Given the description of an element on the screen output the (x, y) to click on. 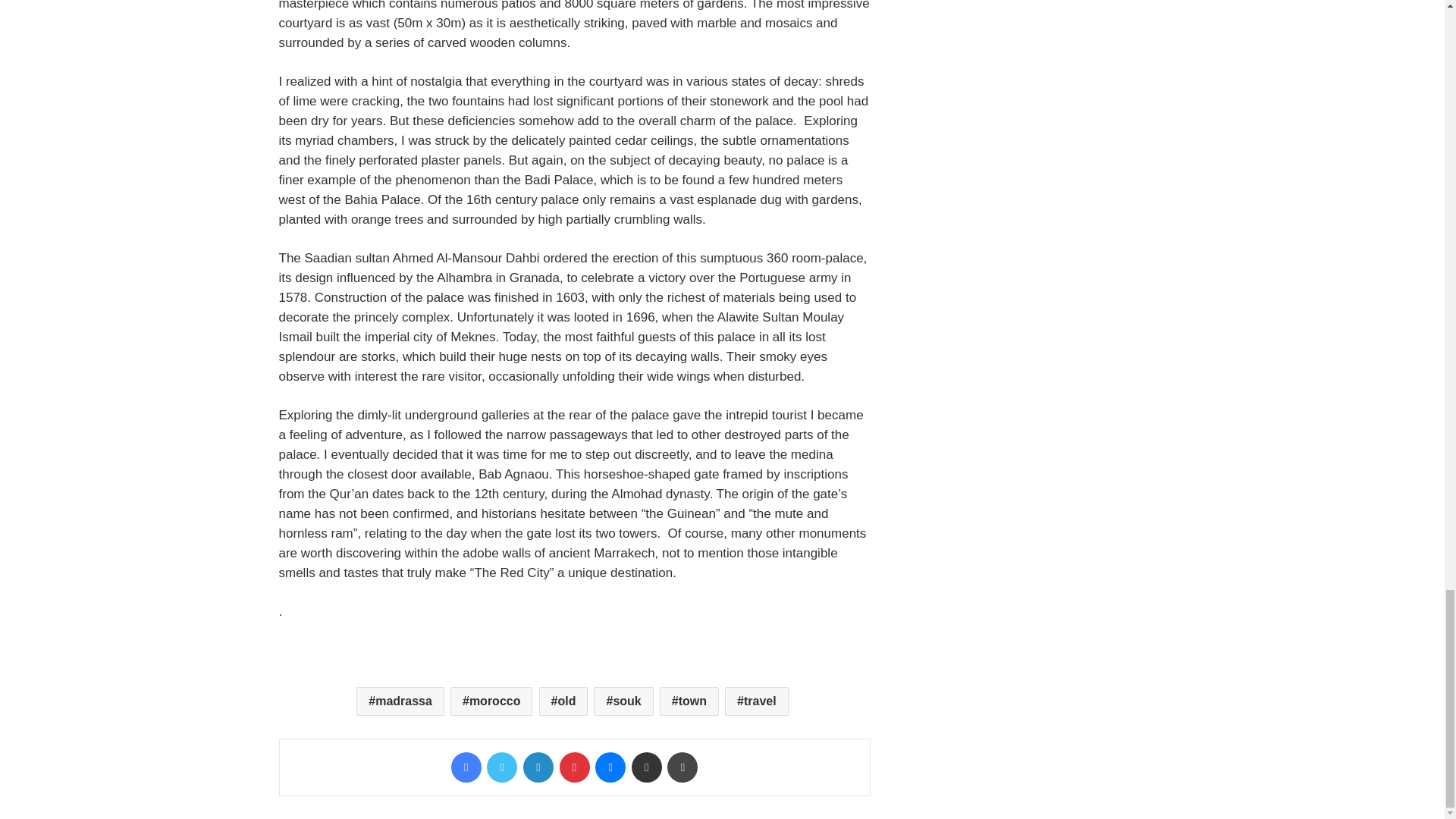
souk (623, 701)
LinkedIn (537, 767)
Share via Email (646, 767)
travel (757, 701)
Messenger (610, 767)
LinkedIn (537, 767)
madrassa (400, 701)
town (689, 701)
old (563, 701)
Twitter (501, 767)
